Given the description of an element on the screen output the (x, y) to click on. 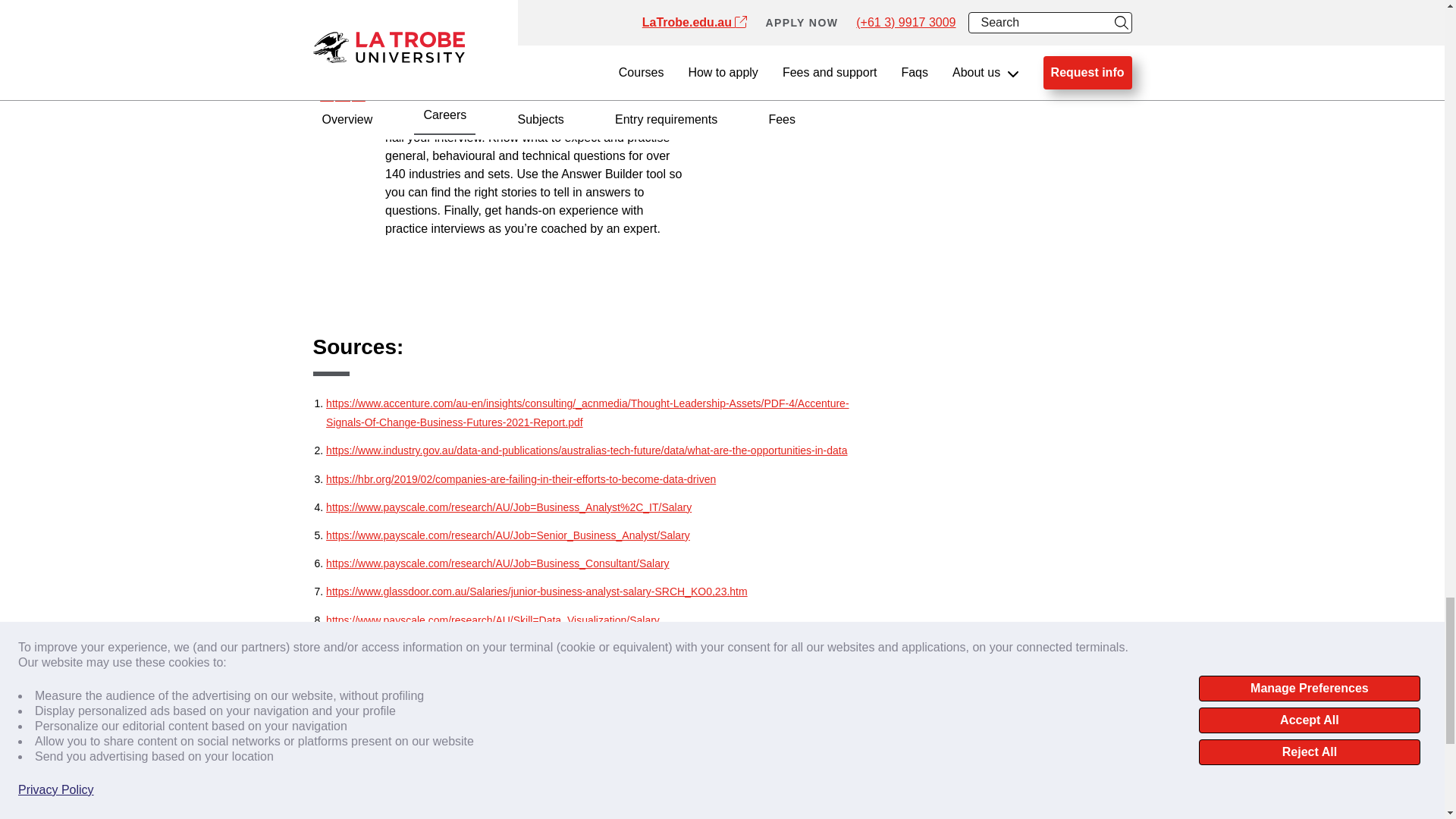
Big Interview (559, 119)
Learn more. (523, 24)
LaTrobeLogoWhite (380, 789)
request form (929, 15)
